Given the description of an element on the screen output the (x, y) to click on. 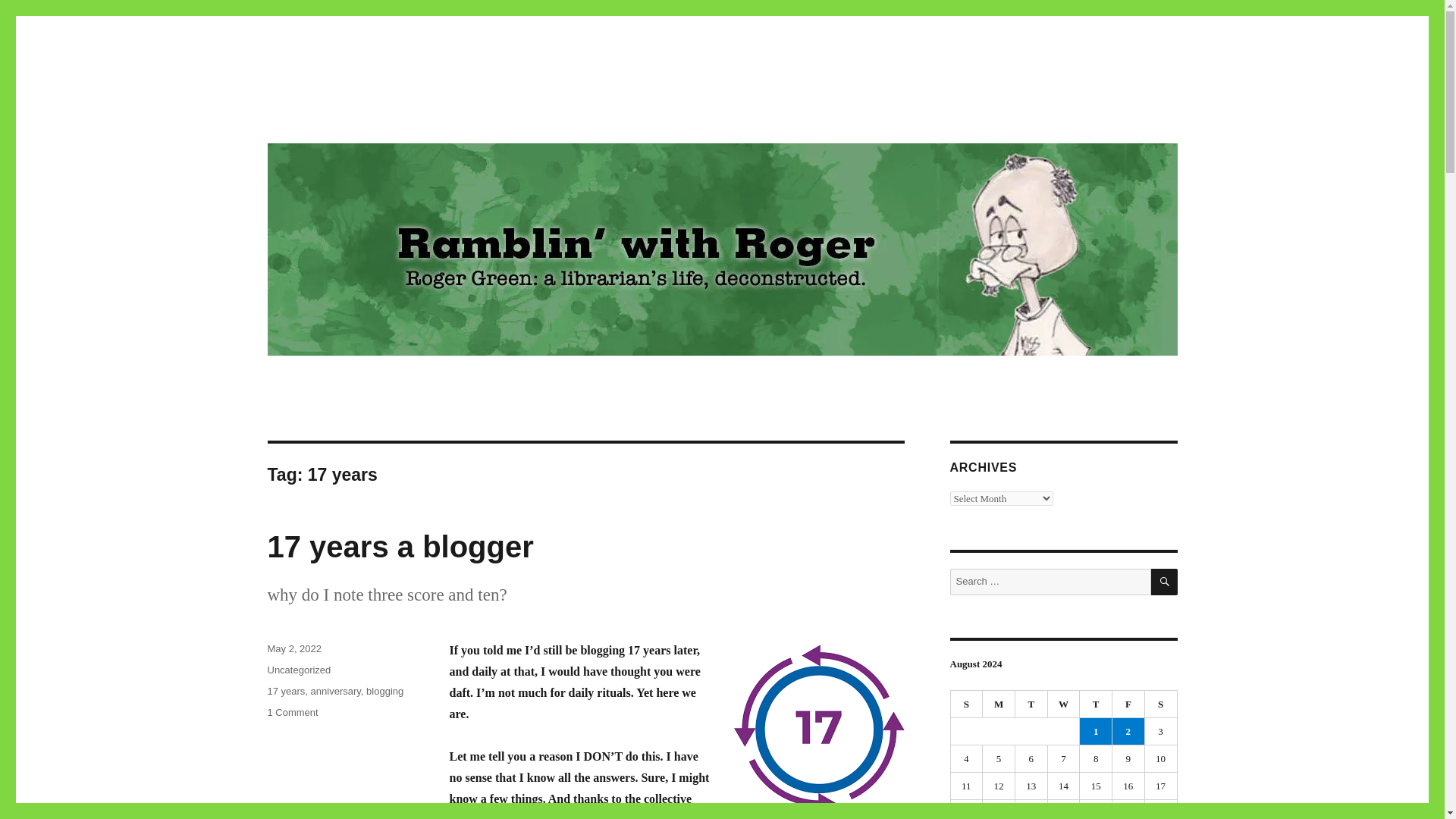
Sunday (967, 704)
Uncategorized (298, 669)
May 2, 2022 (293, 648)
blogging (384, 690)
anniversary (336, 690)
SEARCH (1164, 581)
Saturday (1160, 704)
17 years (285, 690)
Thursday (1096, 704)
Wednesday (1064, 704)
1 (1096, 731)
Friday (1128, 704)
Monday (291, 712)
17 years a blogger (998, 704)
